Given the description of an element on the screen output the (x, y) to click on. 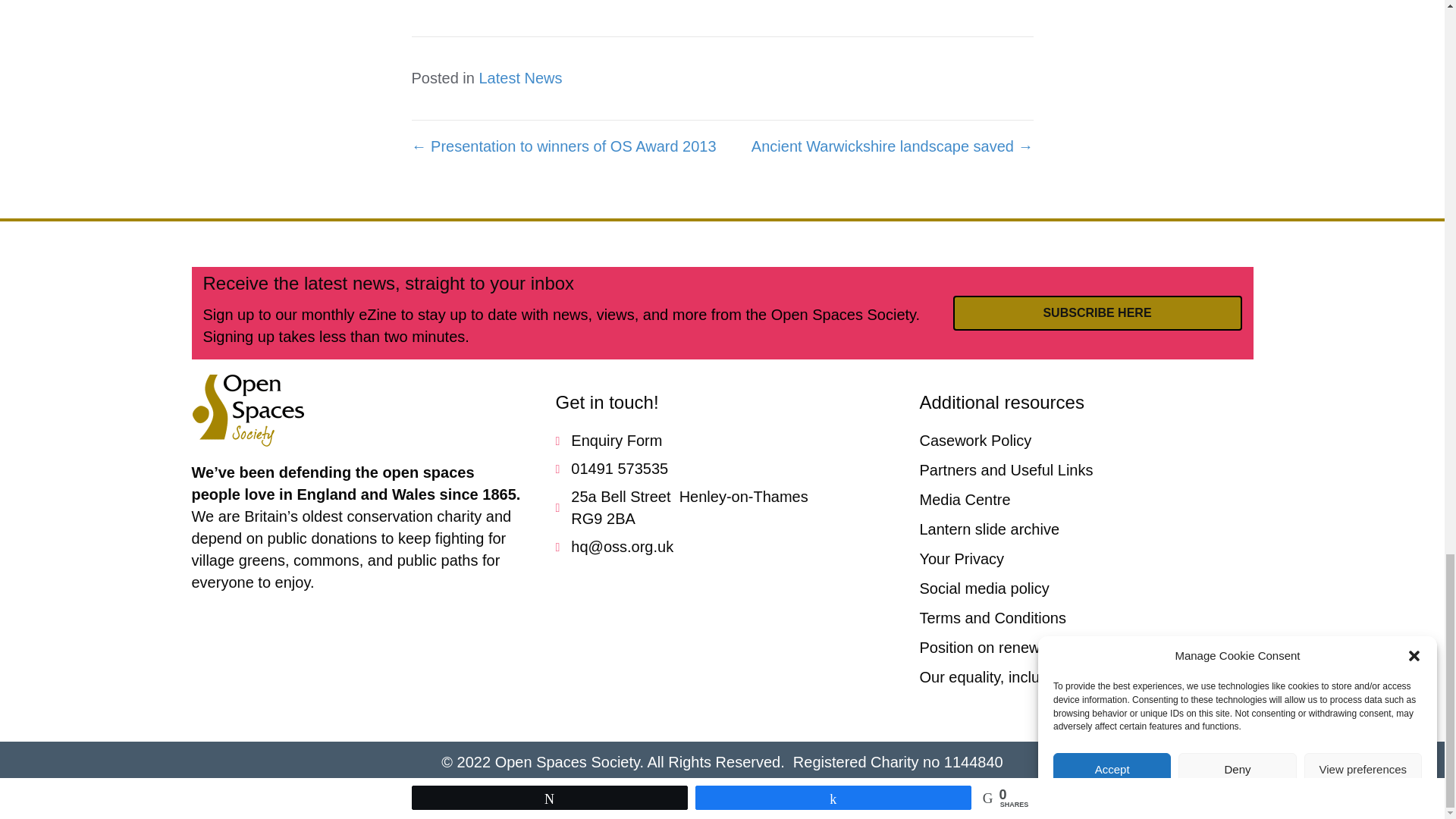
oss-logo (247, 410)
